Given the description of an element on the screen output the (x, y) to click on. 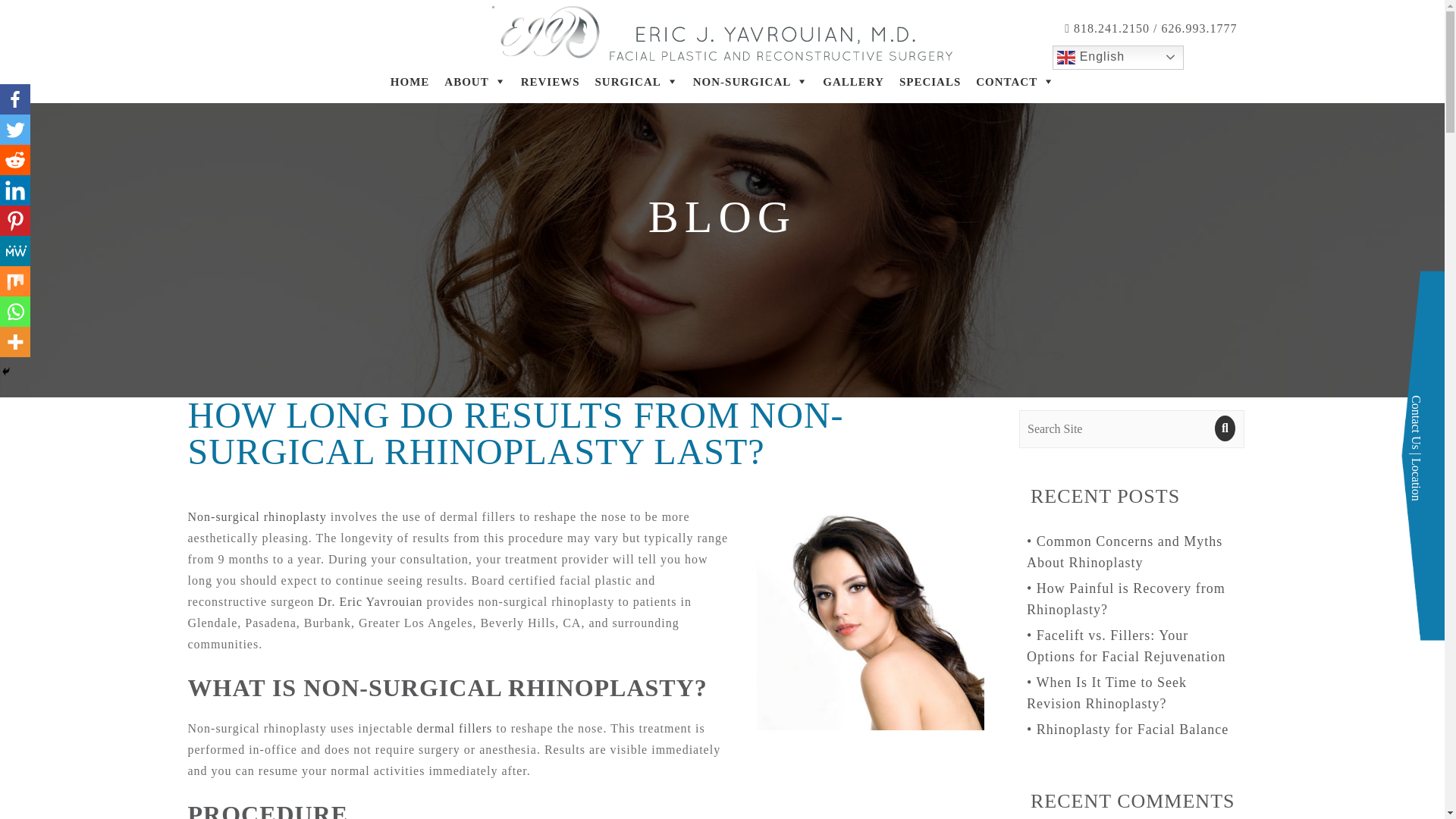
ABOUT (474, 81)
SURGICAL (636, 81)
818.241.2150 (1110, 28)
English (1117, 57)
NON-SURGICAL (750, 81)
626.993.1777 (1199, 28)
REVIEWS (550, 81)
HOME (410, 81)
